Given the description of an element on the screen output the (x, y) to click on. 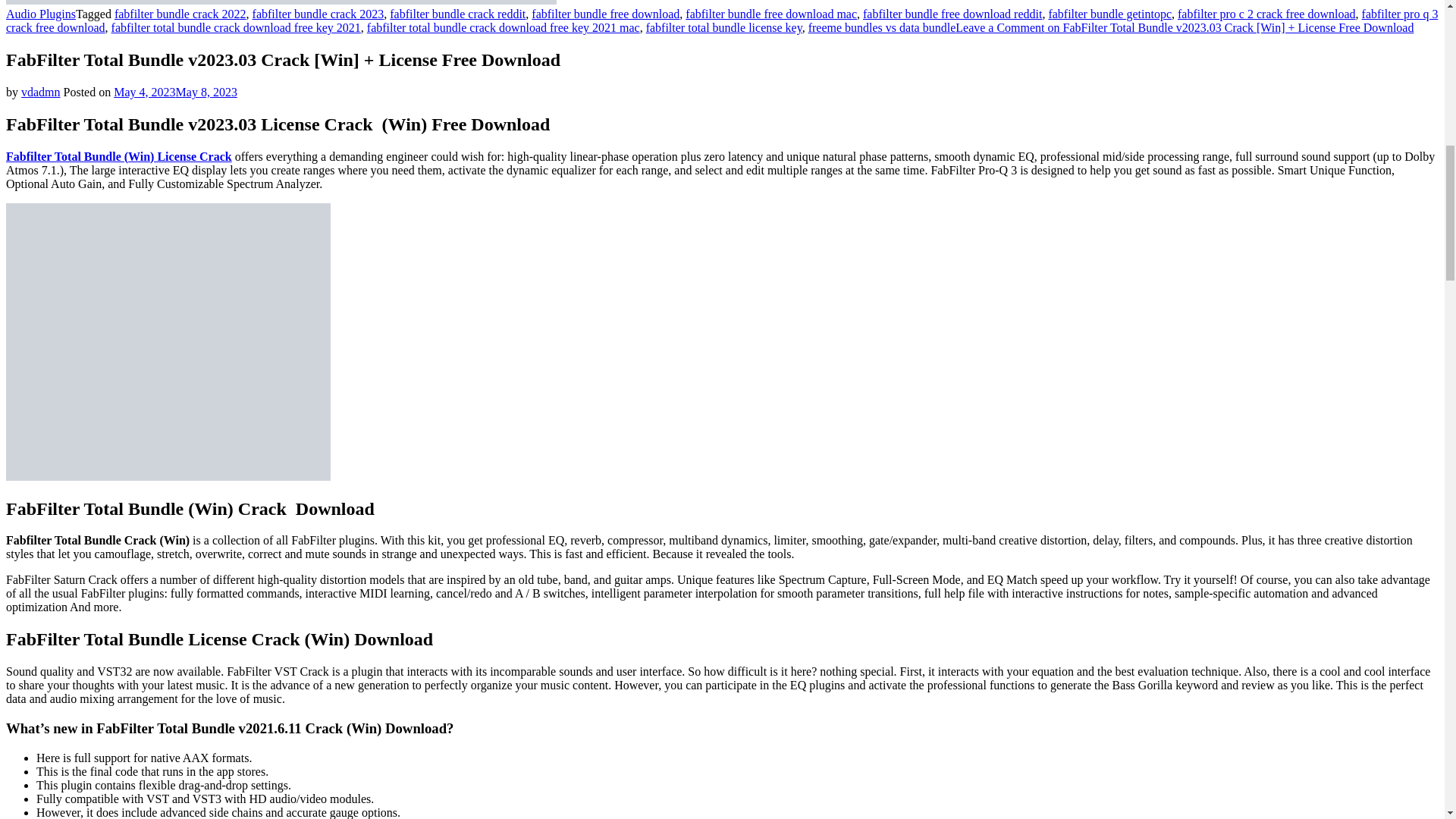
Audio Plugins (40, 13)
freeme bundles vs data bundle (882, 27)
May 4, 2023May 8, 2023 (175, 91)
fabfilter bundle free download mac (771, 13)
fabfilter bundle crack 2022 (180, 13)
vdadmn (41, 91)
fabfilter bundle free download reddit (952, 13)
fabfilter bundle crack 2023 (317, 13)
fabfilter total bundle crack download free key 2021 (236, 27)
fabfilter pro c 2 crack free download (1266, 13)
